Given the description of an element on the screen output the (x, y) to click on. 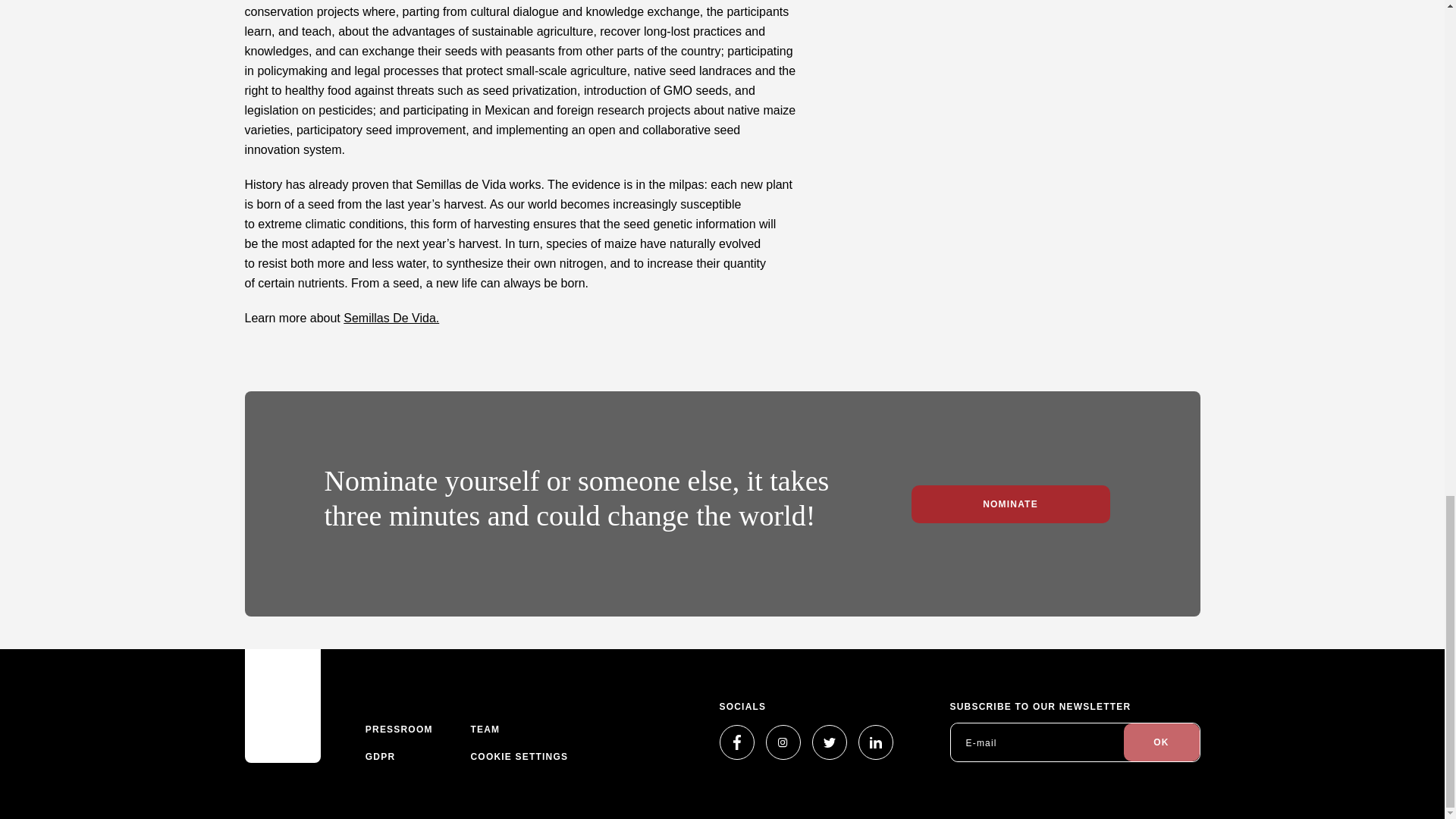
COOKIE SETTINGS (518, 757)
Semillas De Vida. (391, 318)
OK (1161, 742)
NOMINATE (1010, 504)
PRESSROOM (398, 729)
OK (1161, 742)
GDPR (379, 757)
TEAM (484, 729)
